Given the description of an element on the screen output the (x, y) to click on. 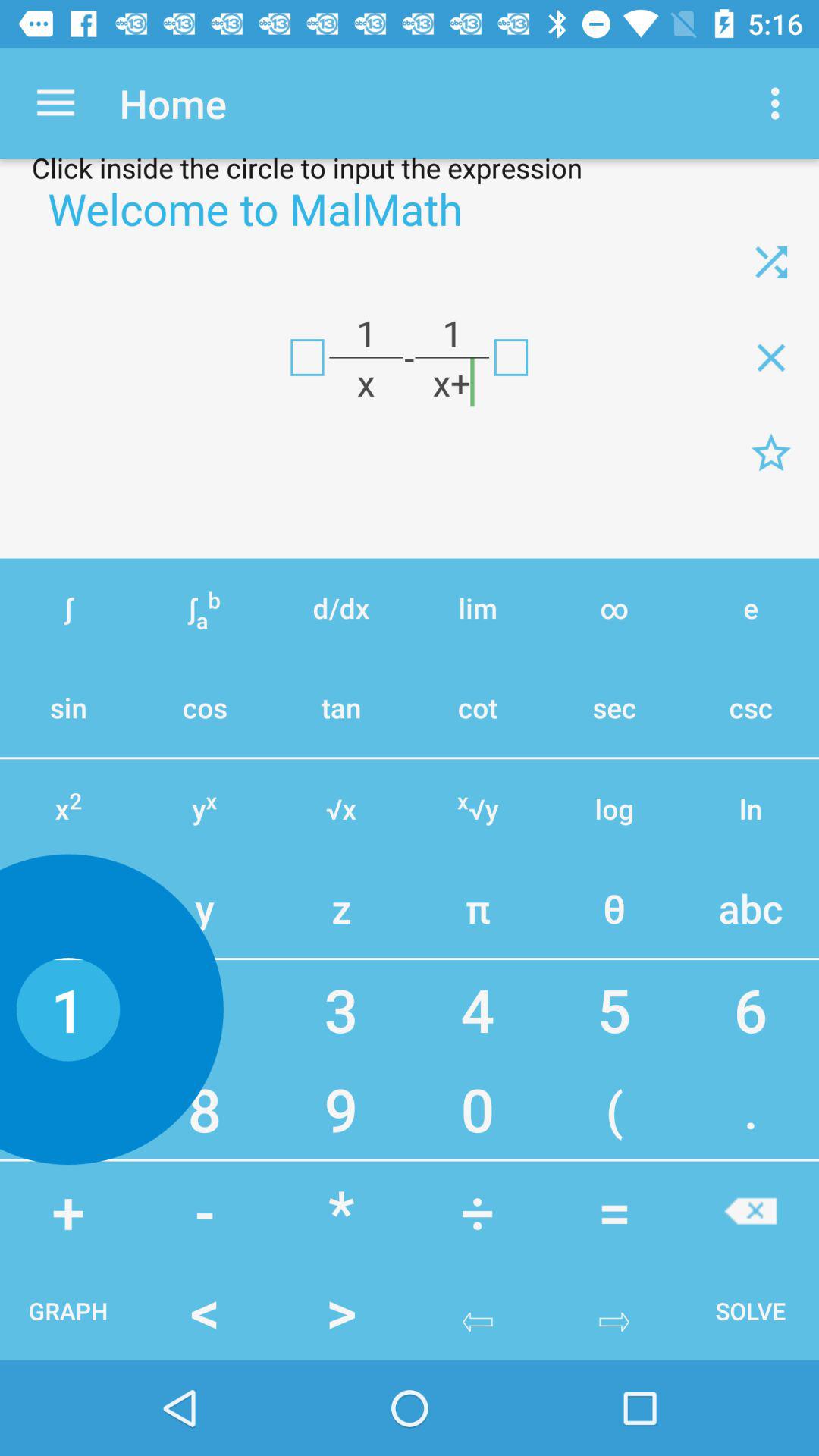
reiter pega (771, 261)
